Given the description of an element on the screen output the (x, y) to click on. 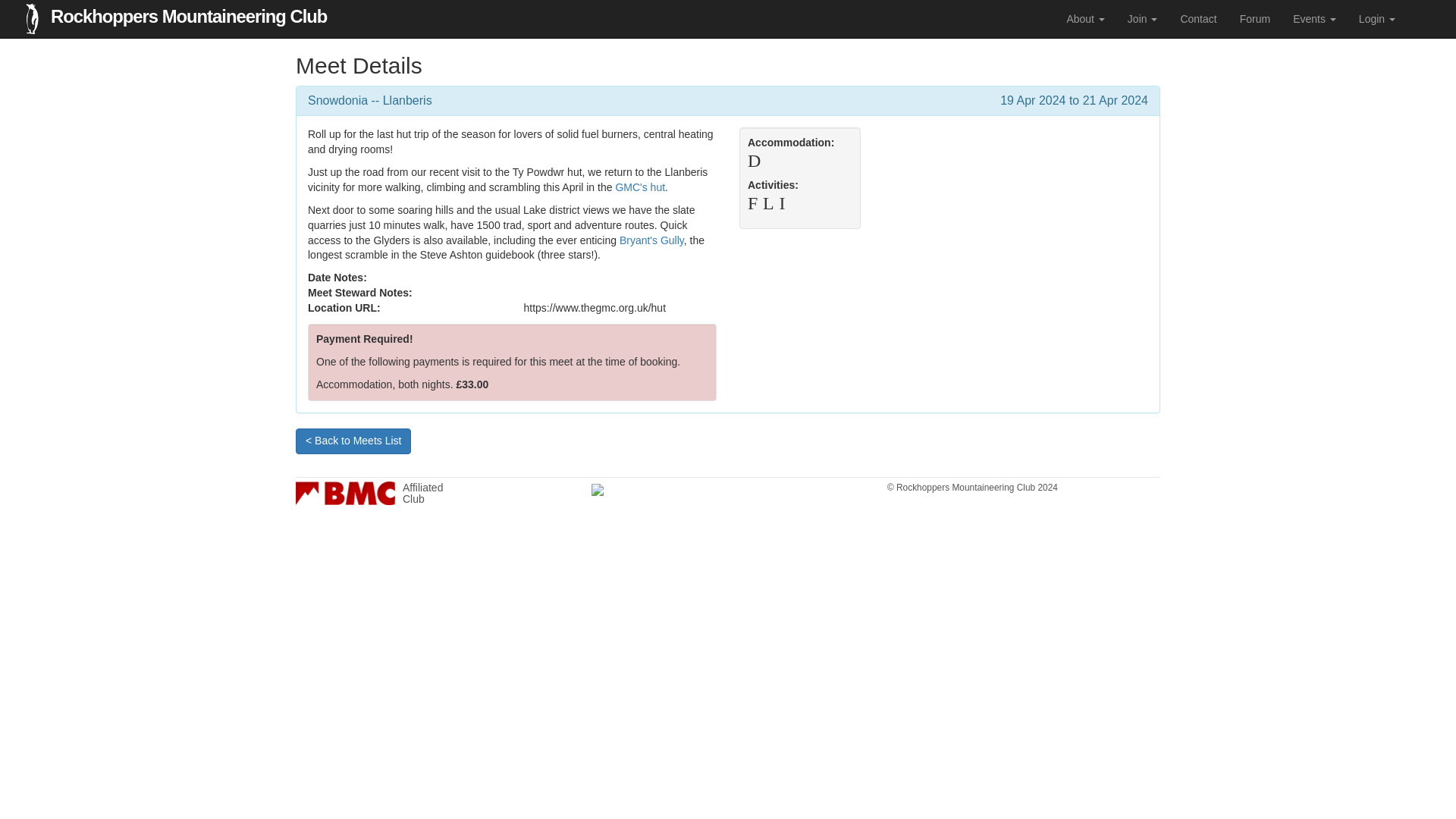
GMC's hut (639, 186)
Login (432, 493)
About (1377, 18)
Bryant's Gully (1084, 18)
Forum (652, 239)
Rockhoppers Mountaineering Club (1254, 18)
Events (188, 12)
Contact (1314, 18)
Join (1198, 18)
